Given the description of an element on the screen output the (x, y) to click on. 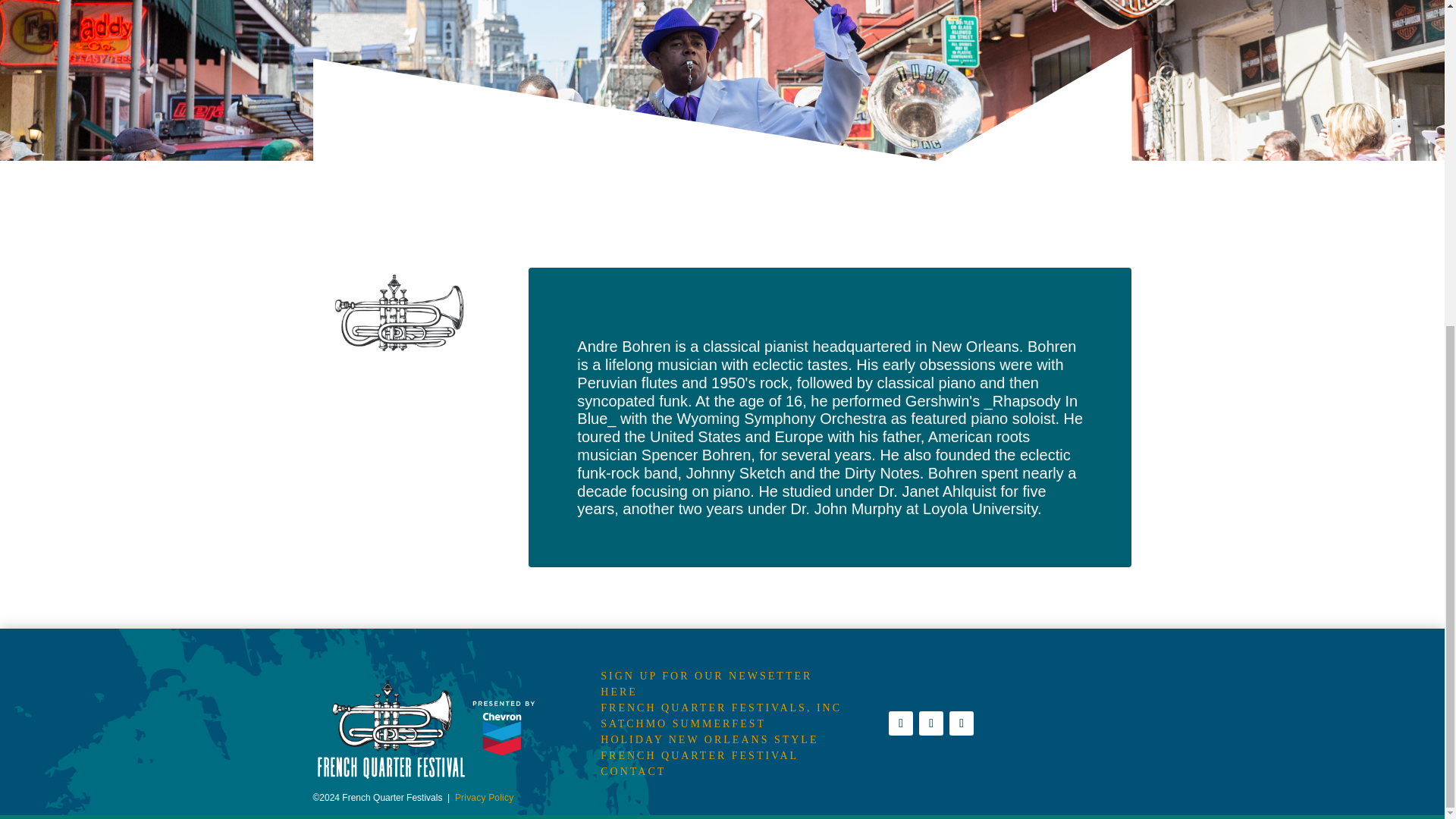
Follow on Instagram (961, 723)
Follow on Facebook (900, 723)
Follow on X (930, 723)
SIGN UP FOR OUR NEWSETTER HERE (705, 683)
